Given the description of an element on the screen output the (x, y) to click on. 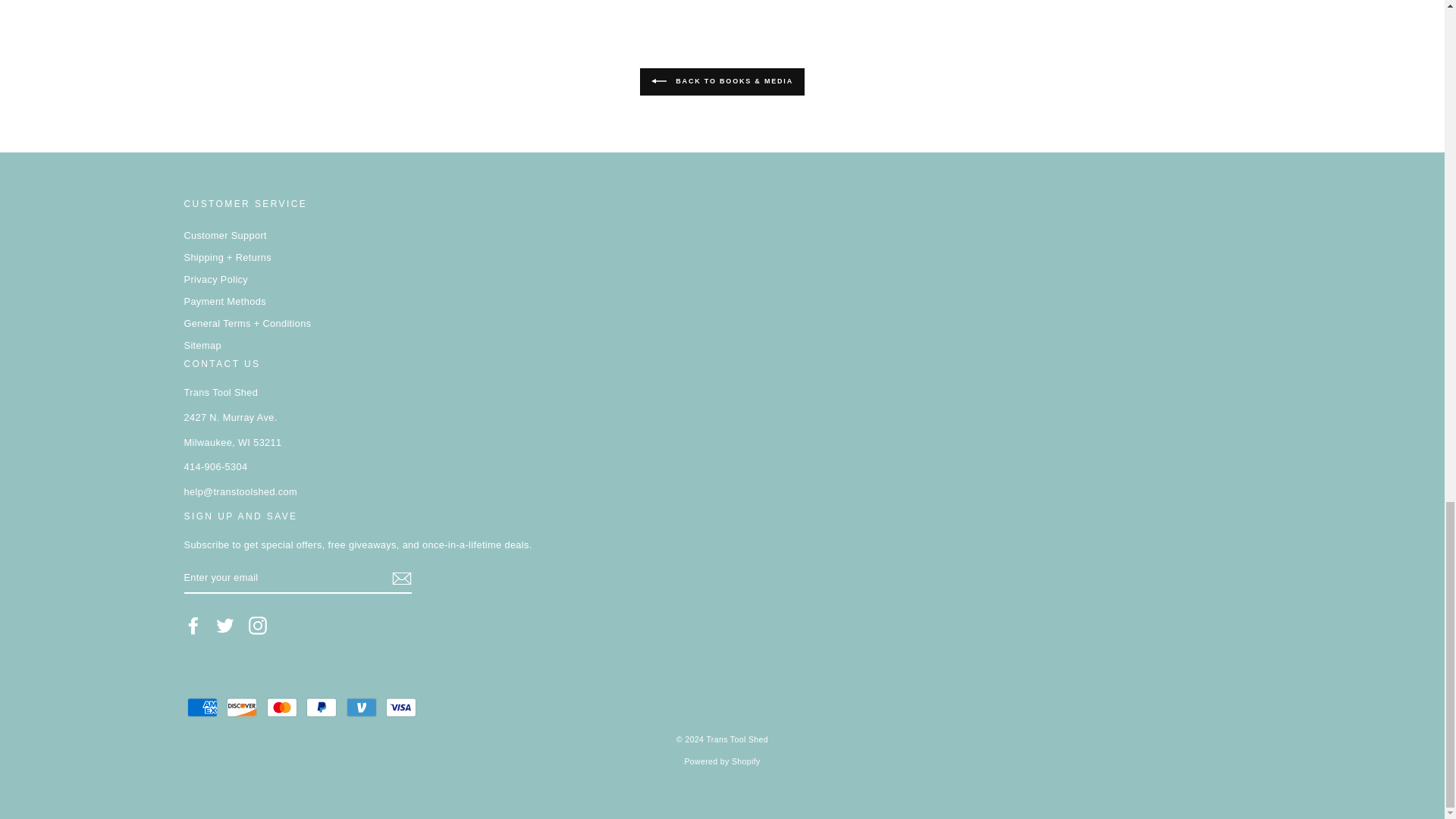
Trans Tool Shed on Instagram (257, 625)
Trans Tool Shed on Twitter (224, 625)
American Express (201, 707)
Trans Tool Shed on Facebook (192, 625)
Discover (242, 707)
